Given the description of an element on the screen output the (x, y) to click on. 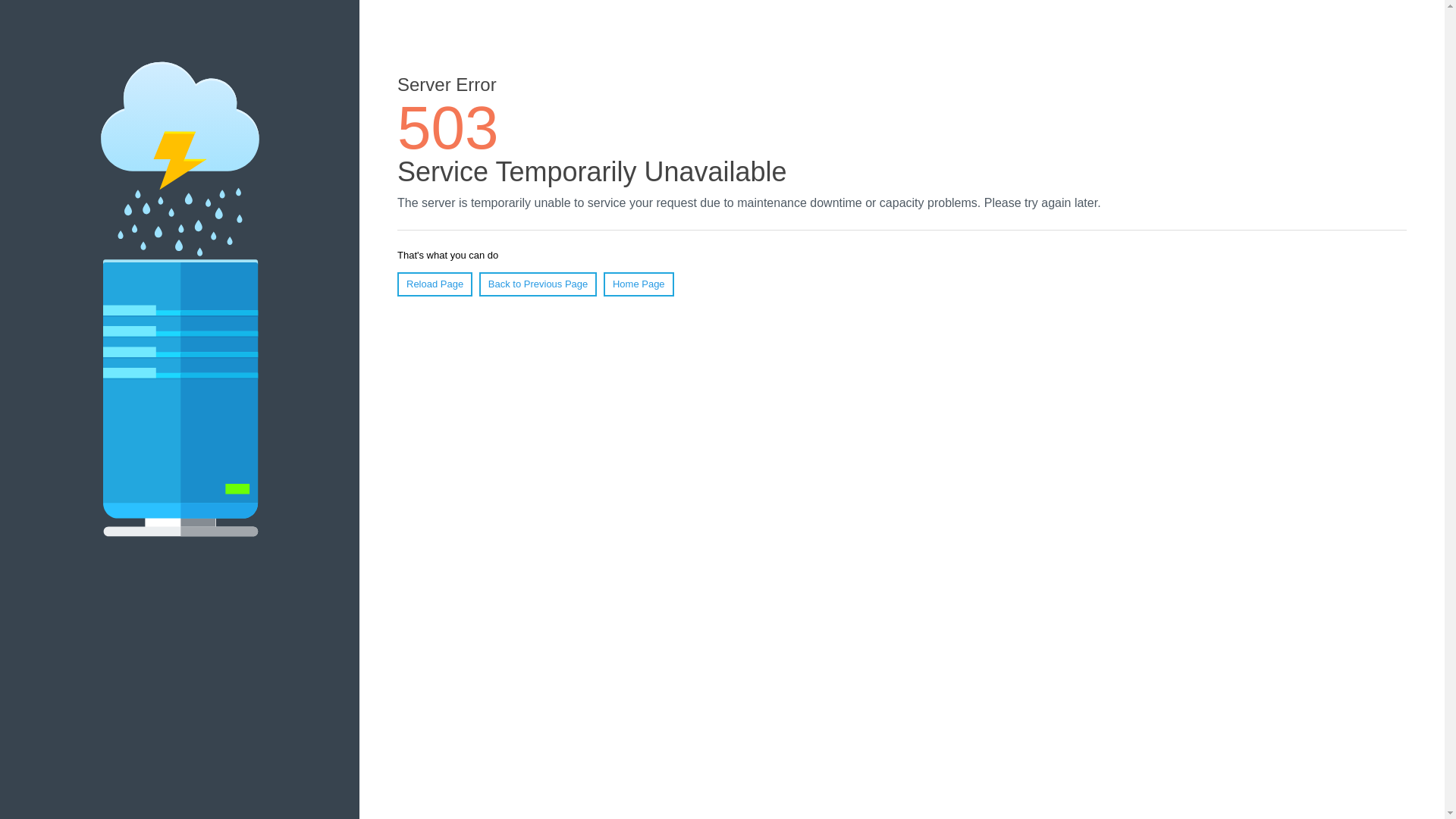
Home Page Element type: text (638, 284)
Reload Page Element type: text (434, 284)
Back to Previous Page Element type: text (538, 284)
